Given the description of an element on the screen output the (x, y) to click on. 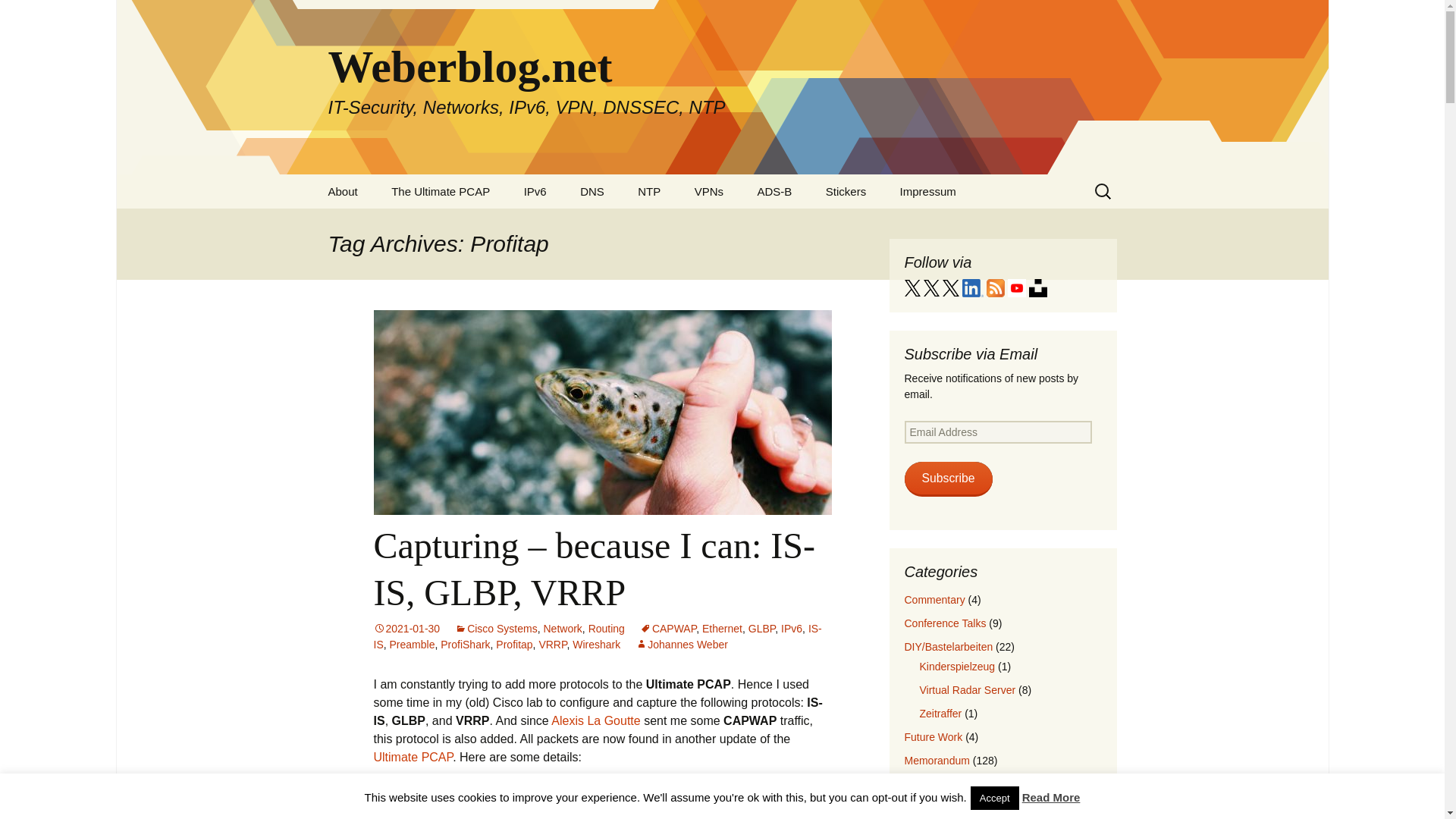
ProfiShark (465, 644)
ADS-B (773, 191)
GLBP (762, 628)
Preamble (412, 644)
DNS (592, 191)
Ethernet (721, 628)
Datenschutz (960, 225)
Profitap (514, 644)
IS-IS (596, 636)
VRRP (552, 644)
View all posts by Johannes Weber (681, 644)
Impressum (928, 191)
Ultimate PCAP (412, 757)
Wireshark (596, 644)
